Given the description of an element on the screen output the (x, y) to click on. 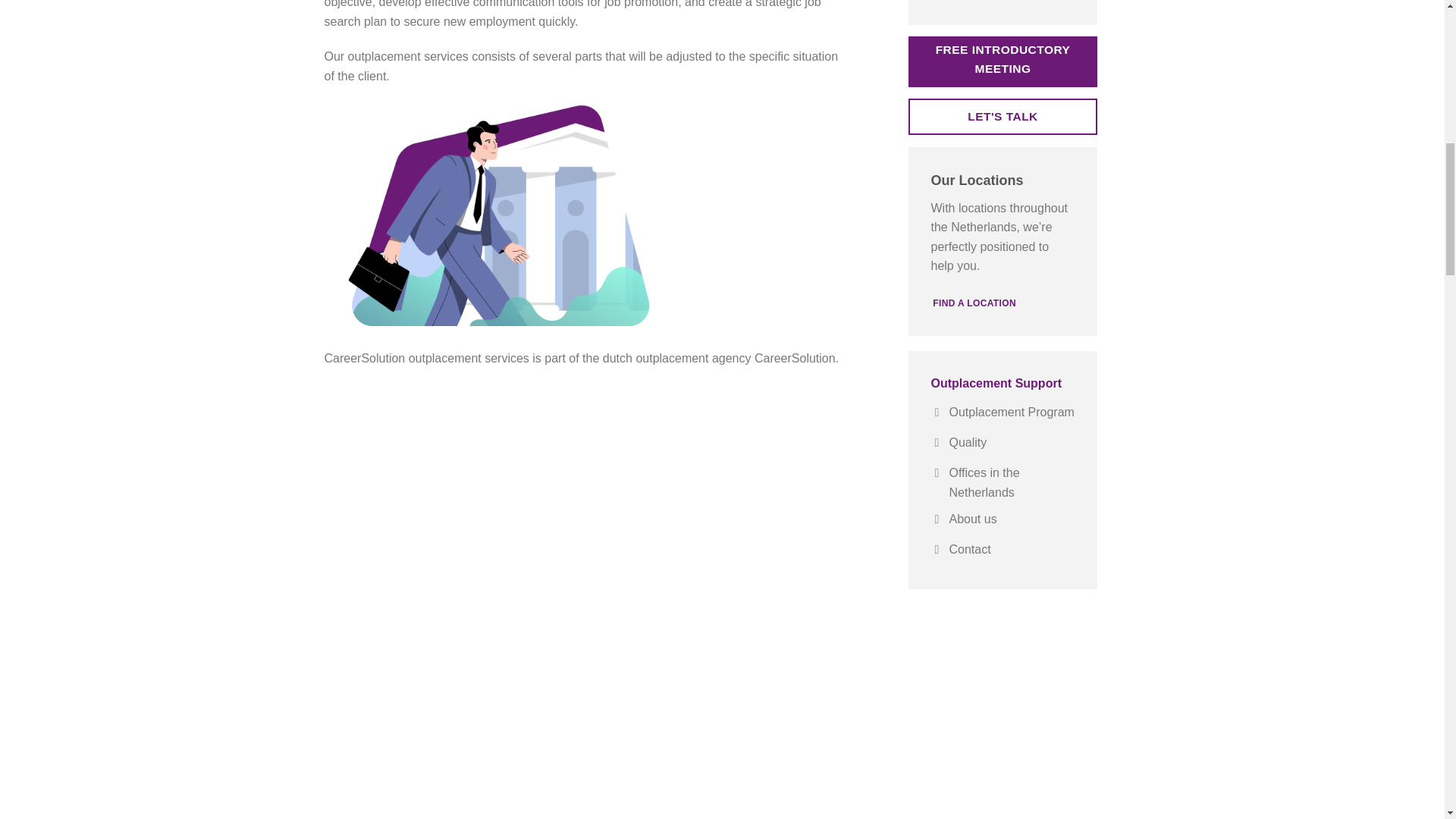
Offices in the Netherlands (1003, 482)
LET'S TALK (1002, 116)
FIND A LOCATION (974, 303)
Outplacement Program (1003, 413)
Contact (1003, 551)
About us (1003, 521)
FREE INTRODUCTORY MEETING (1002, 61)
Quality (1003, 444)
